Given the description of an element on the screen output the (x, y) to click on. 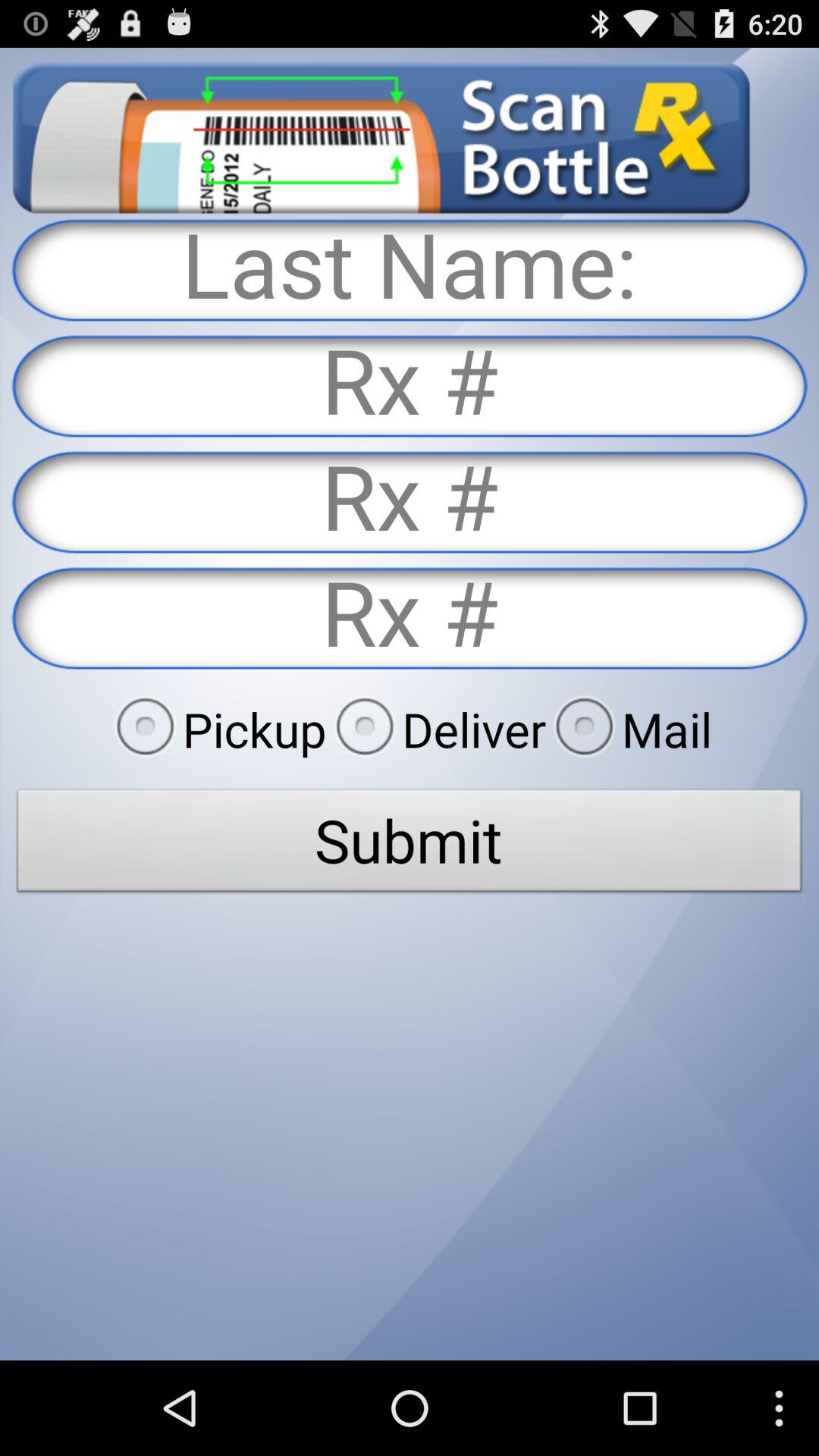
scroll until pickup item (216, 728)
